Given the description of an element on the screen output the (x, y) to click on. 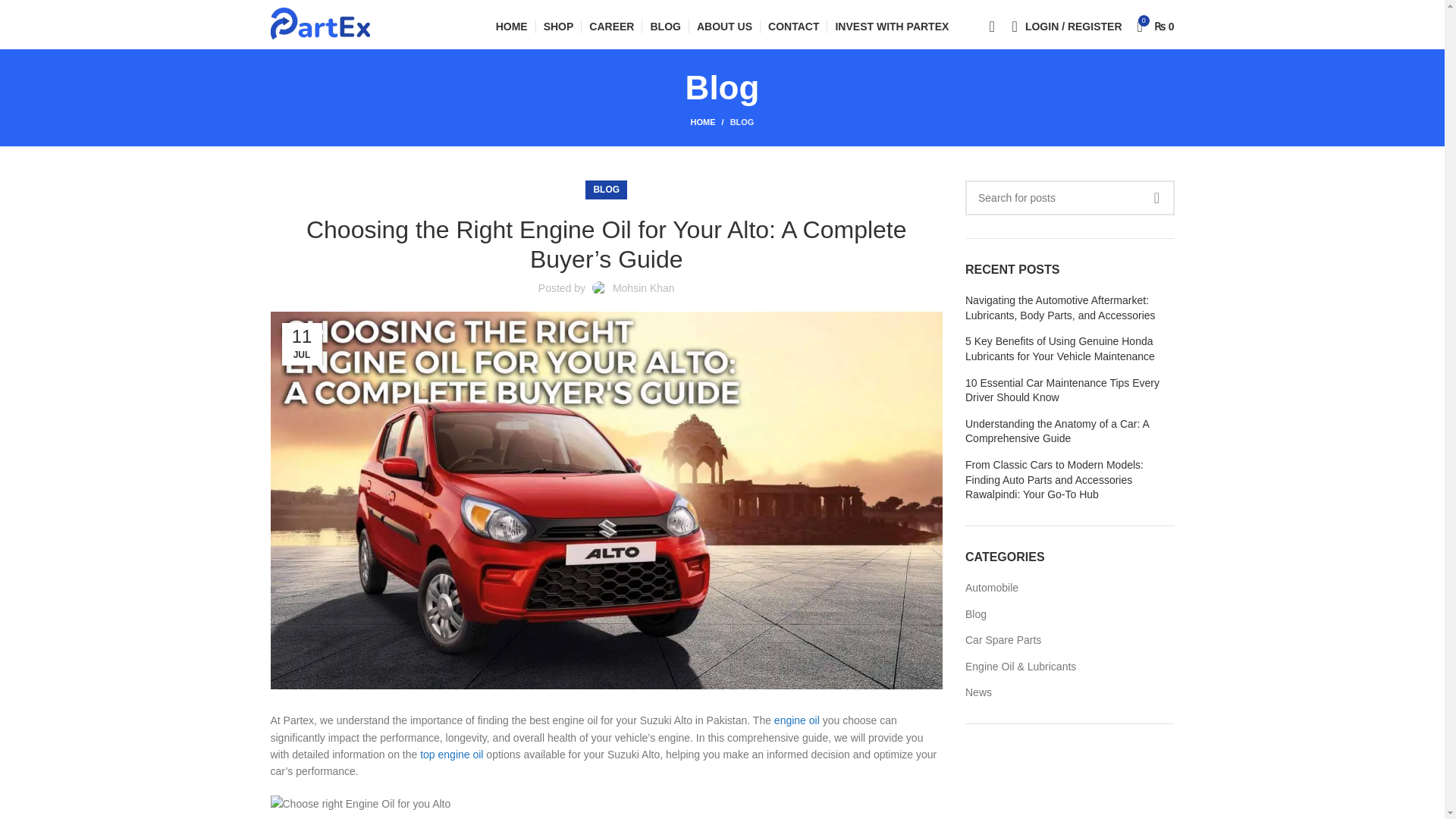
HOME (511, 26)
top engine oil (451, 754)
BLOG (664, 26)
BLOG (742, 121)
My account (1073, 26)
eng (783, 720)
INVEST WITH PARTEX (891, 26)
CAREER (611, 26)
Shopping cart (1155, 26)
SHOP (558, 26)
Mohsin Khan (643, 287)
HOME (710, 121)
ine oil (805, 720)
ABOUT US (724, 26)
CONTACT (793, 26)
